Given the description of an element on the screen output the (x, y) to click on. 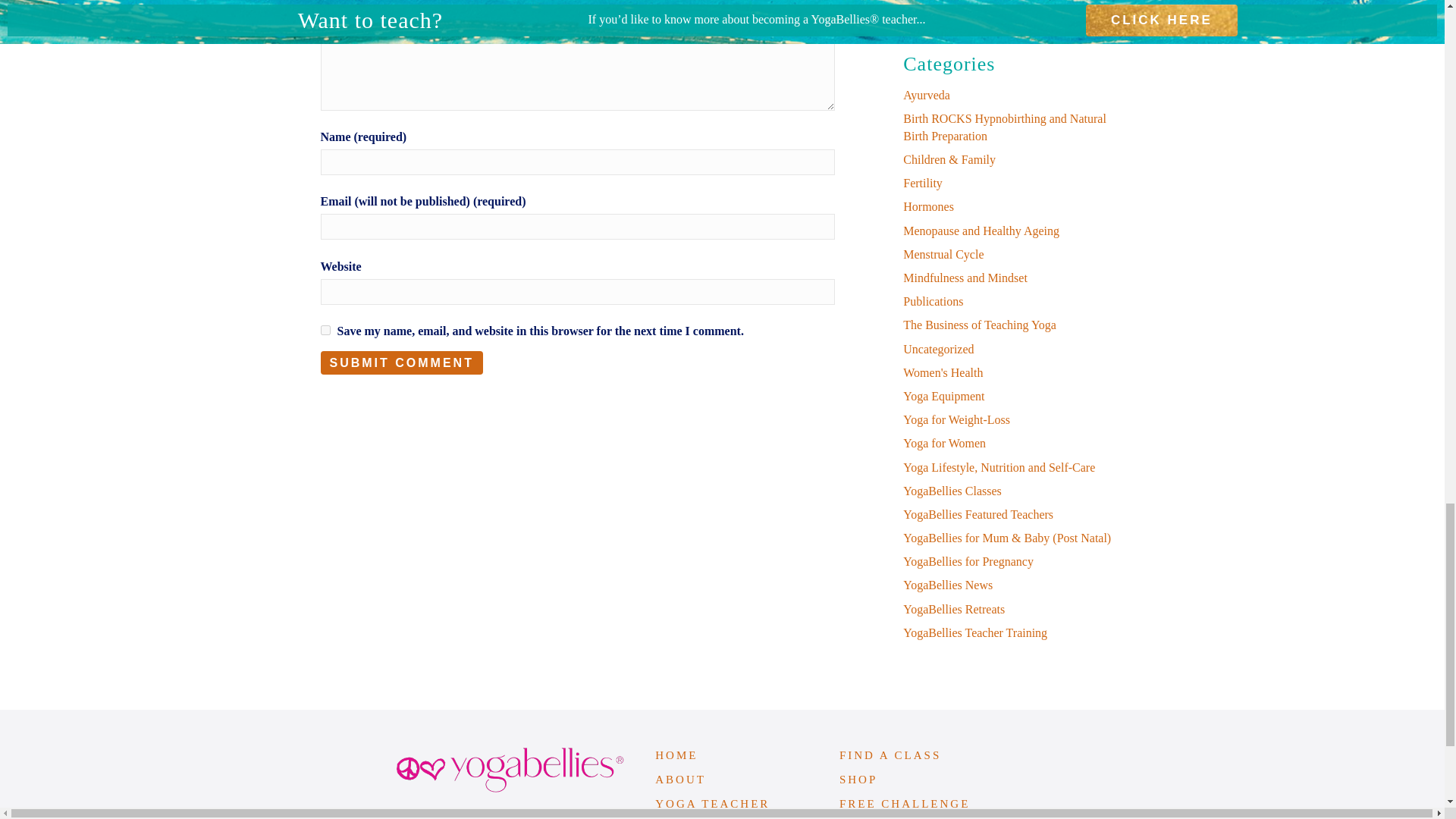
logo retina (510, 769)
Submit Comment (400, 362)
yes (325, 329)
Type and press Enter to search. (1013, 2)
